Given the description of an element on the screen output the (x, y) to click on. 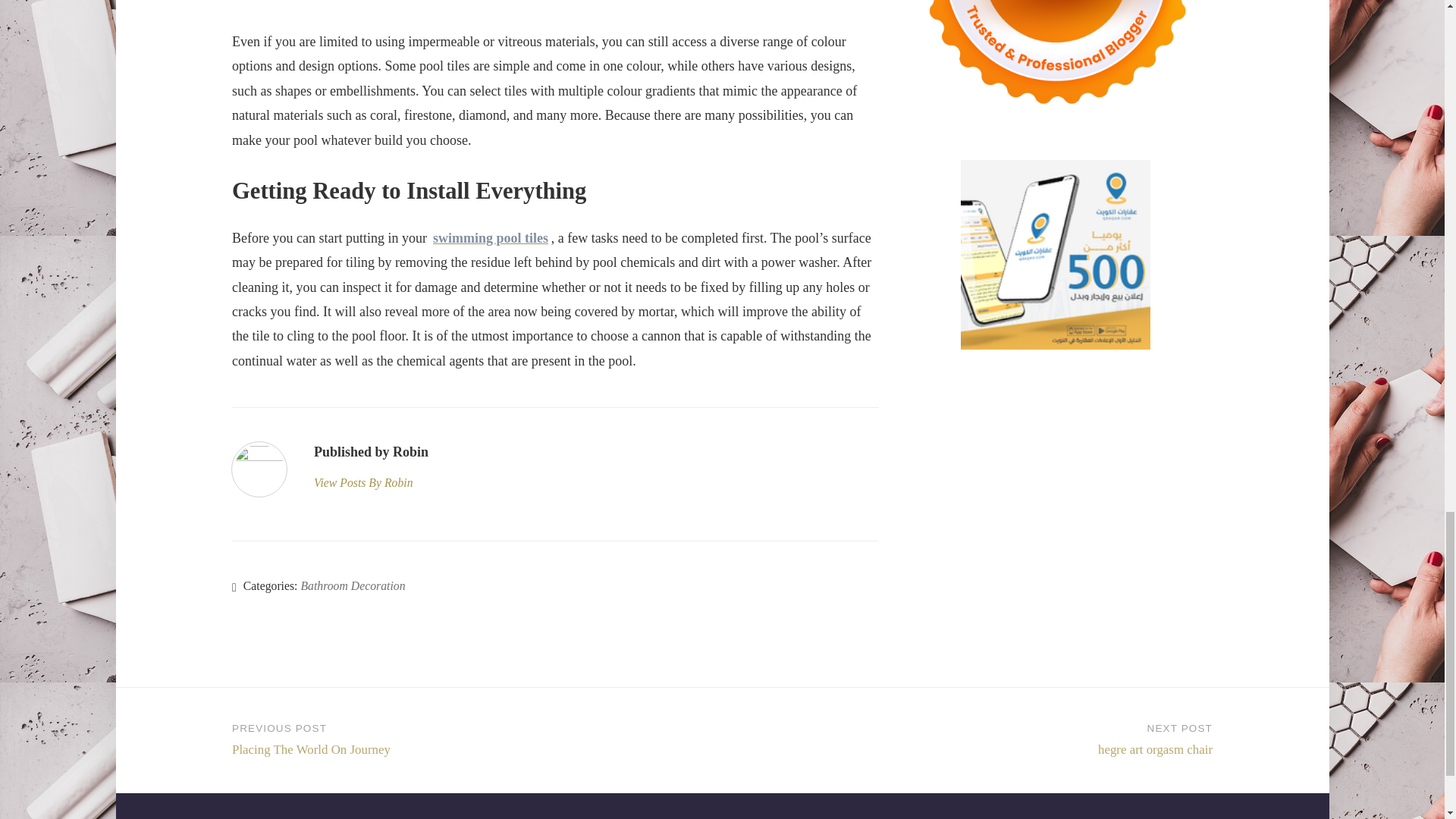
View Posts By Robin (371, 483)
Bathroom Decoration (351, 585)
swimming pool tiles (489, 237)
Seedbacklink (1055, 63)
